Given the description of an element on the screen output the (x, y) to click on. 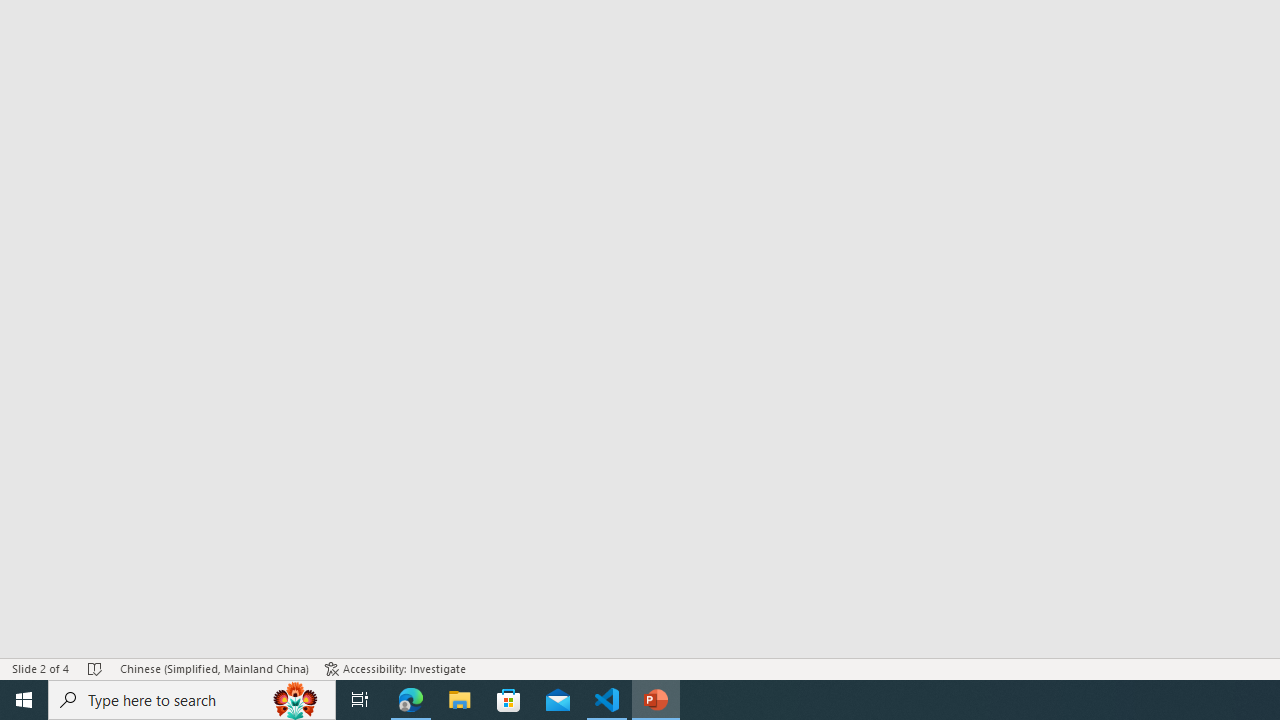
Accessibility Checker Accessibility: Investigate (395, 668)
